Given the description of an element on the screen output the (x, y) to click on. 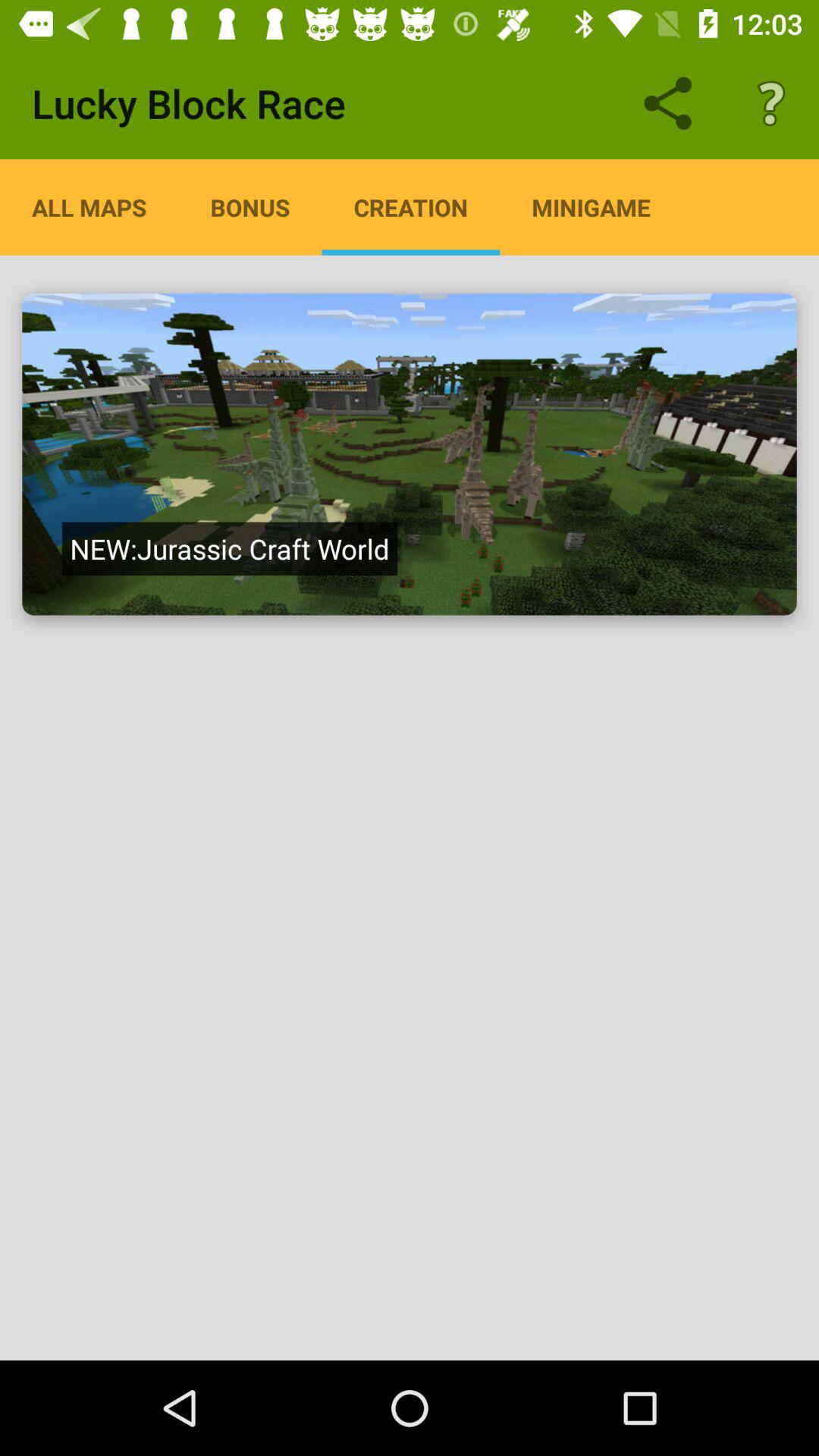
turn off the item to the right of the creation (590, 207)
